Given the description of an element on the screen output the (x, y) to click on. 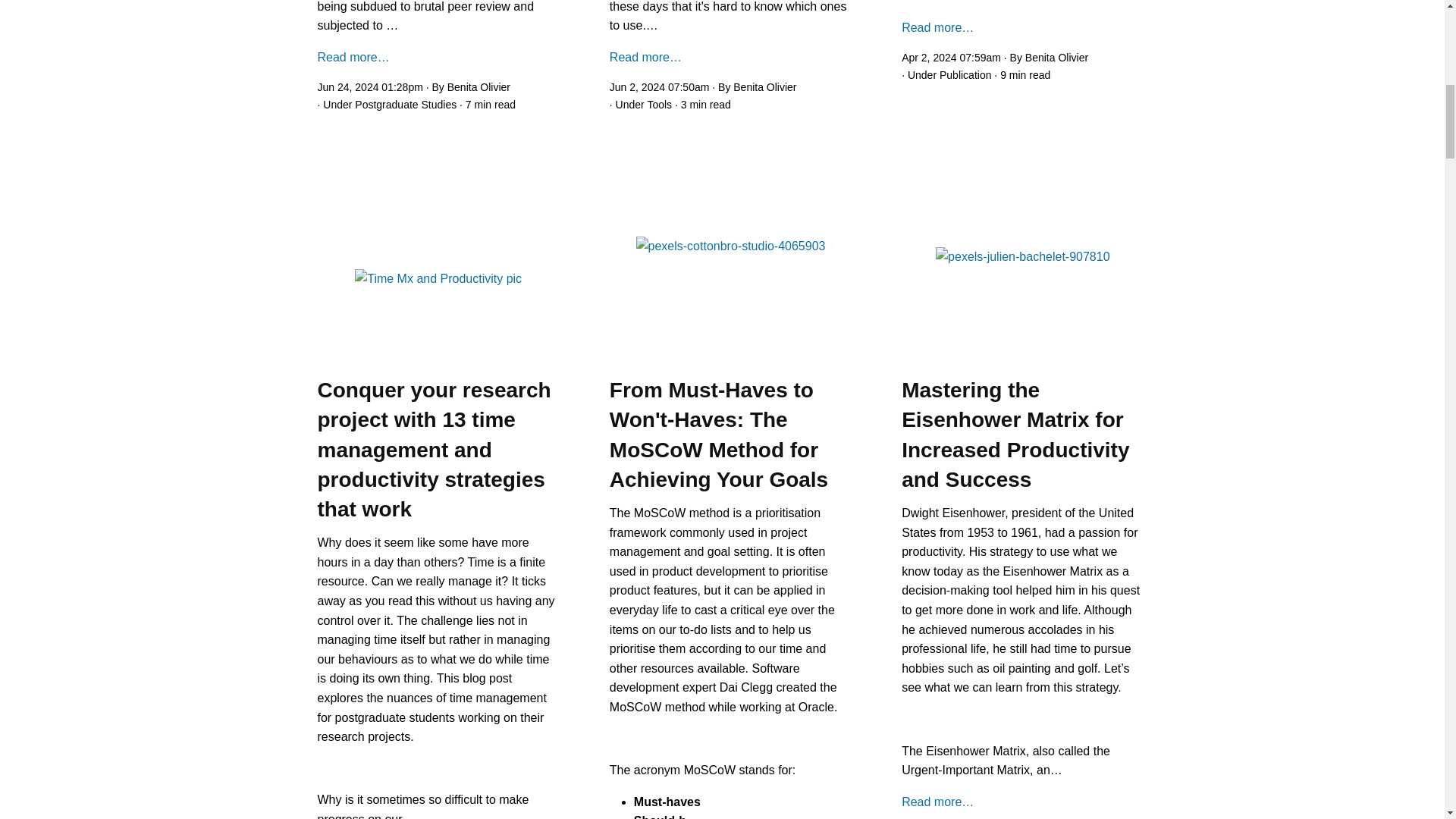
Postgraduate Studies (406, 104)
Publication (965, 74)
Tools (658, 104)
